Given the description of an element on the screen output the (x, y) to click on. 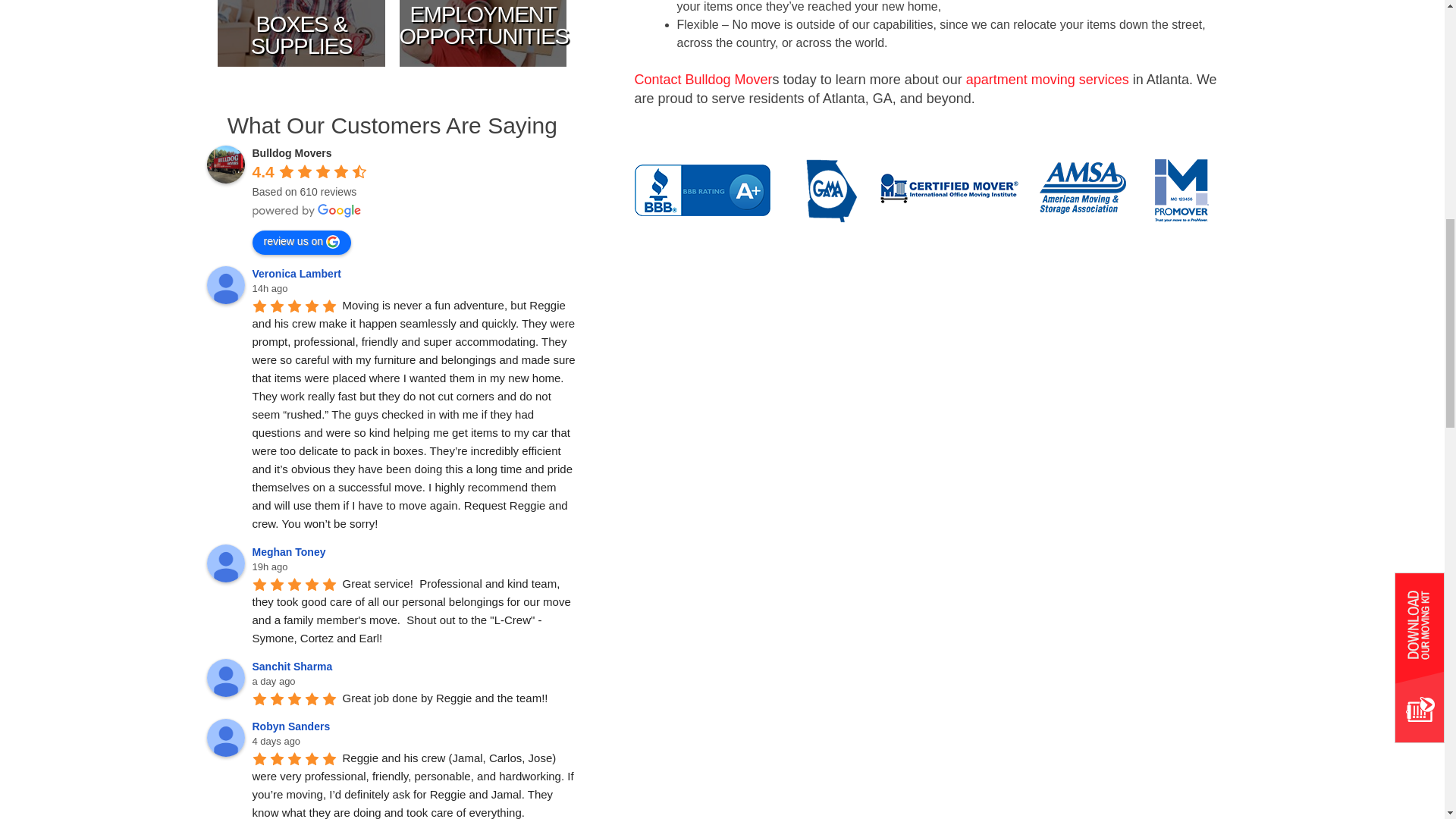
Meghan Toney (225, 563)
Veronica Lambert (225, 284)
powered by Google (306, 210)
apartment moving services (1047, 79)
Sanchit Sharma (225, 677)
Bulldog Movers (225, 164)
Contact Bulldog Mover (702, 79)
Robyn Sanders (225, 737)
